Given the description of an element on the screen output the (x, y) to click on. 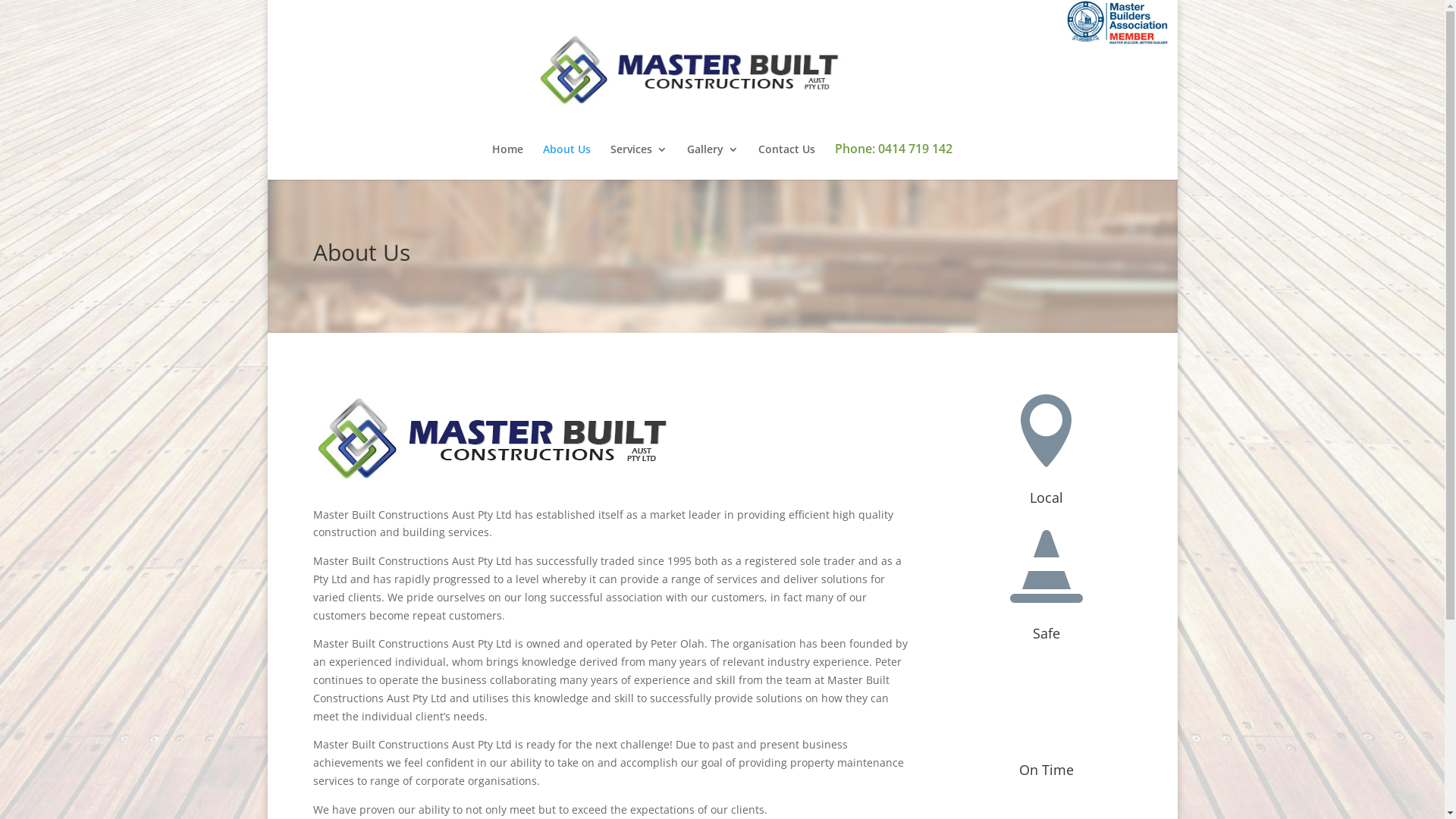
Contact Us Element type: text (786, 161)
About Us Element type: text (566, 161)
Gallery Element type: text (712, 161)
Home Element type: text (507, 161)
Phone: 0414 719 142 Element type: text (893, 160)
Services Element type: text (638, 161)
